Given the description of an element on the screen output the (x, y) to click on. 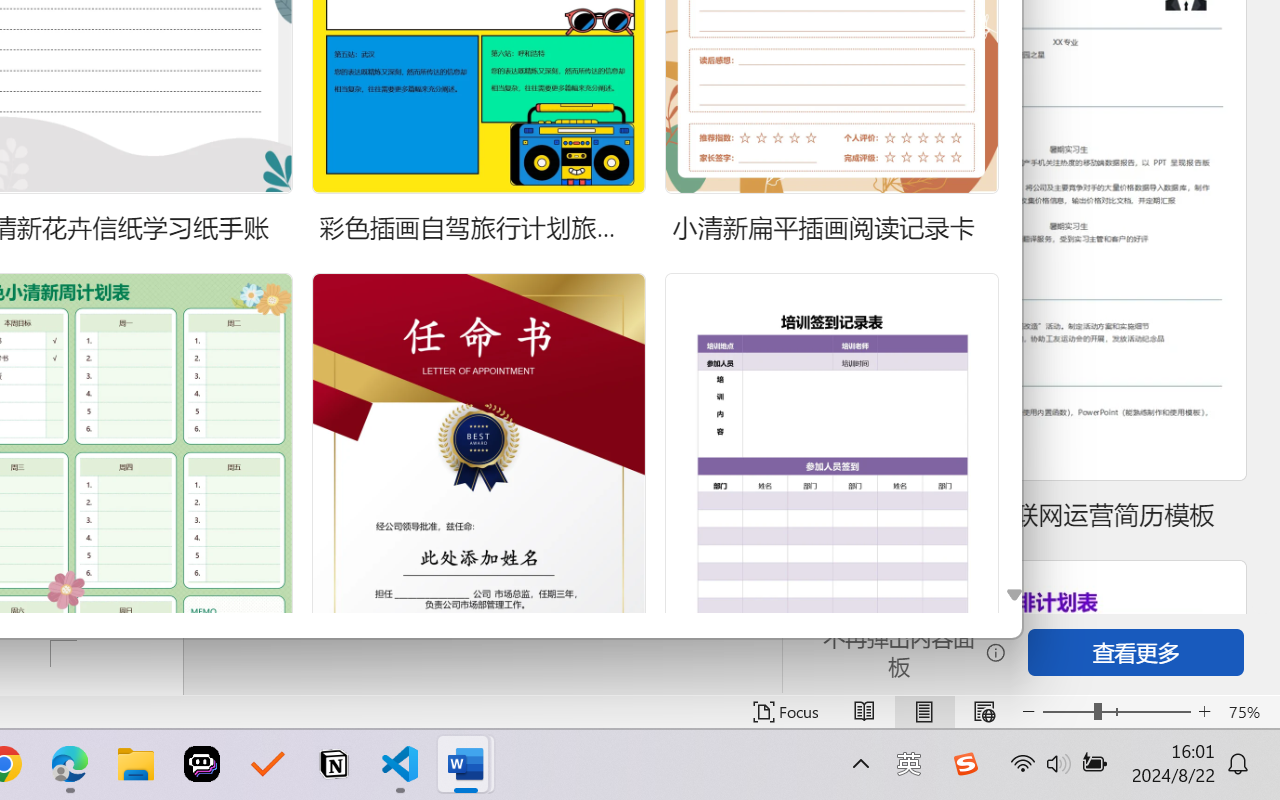
Web Layout (984, 712)
Poe (201, 764)
Read Mode (864, 712)
Zoom (1116, 712)
